Given the description of an element on the screen output the (x, y) to click on. 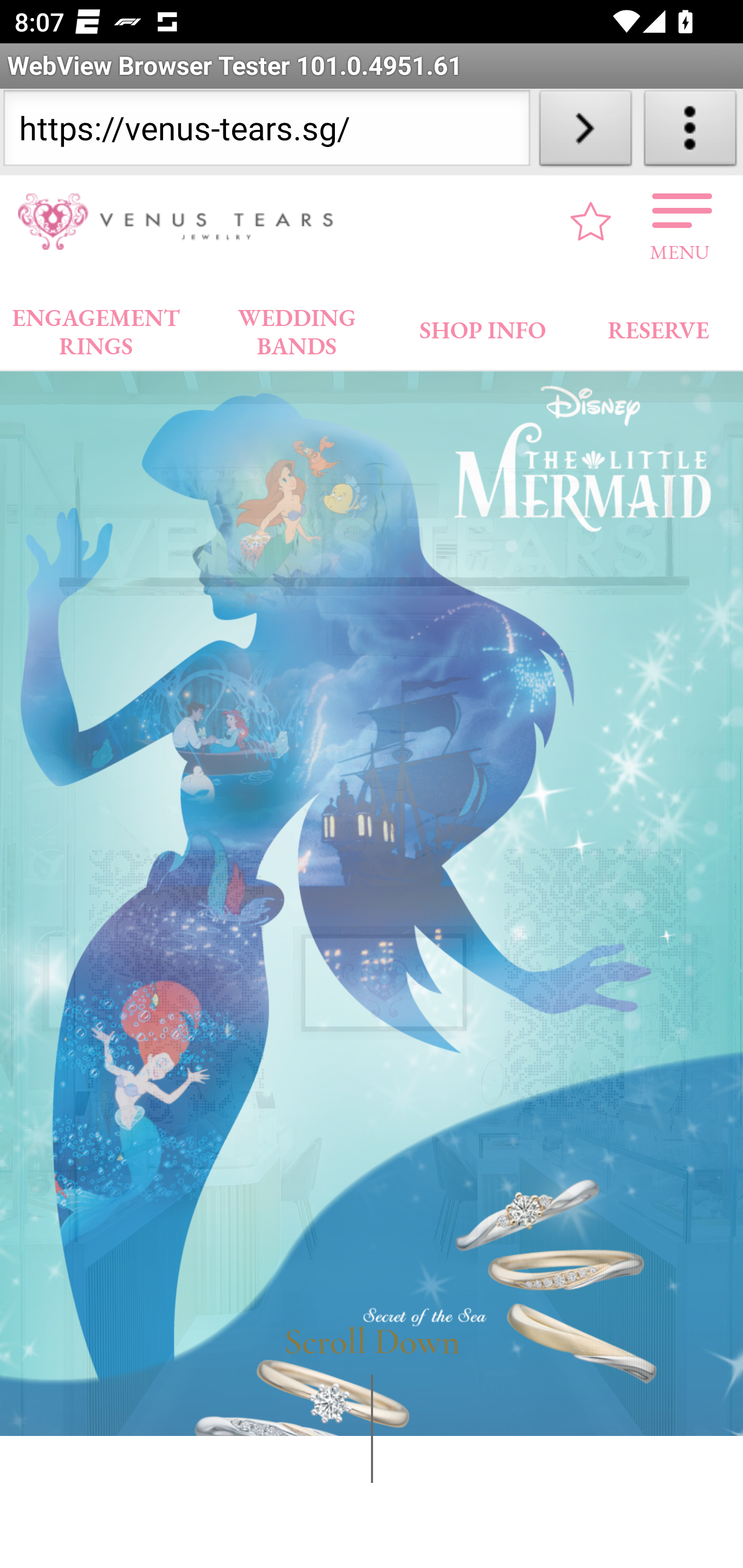
https://venus-tears.sg/ (266, 132)
Load URL (585, 132)
About WebView (690, 132)
favourite (591, 220)
MENU (680, 220)
VENUS TEARS (181, 221)
ENGAGEMENT RINGS ENGAGEMENT RINGS (96, 326)
WEDDING BANDS WEDDING BANDS (296, 326)
SHOP INFO (482, 325)
RESERVE (657, 325)
